Given the description of an element on the screen output the (x, y) to click on. 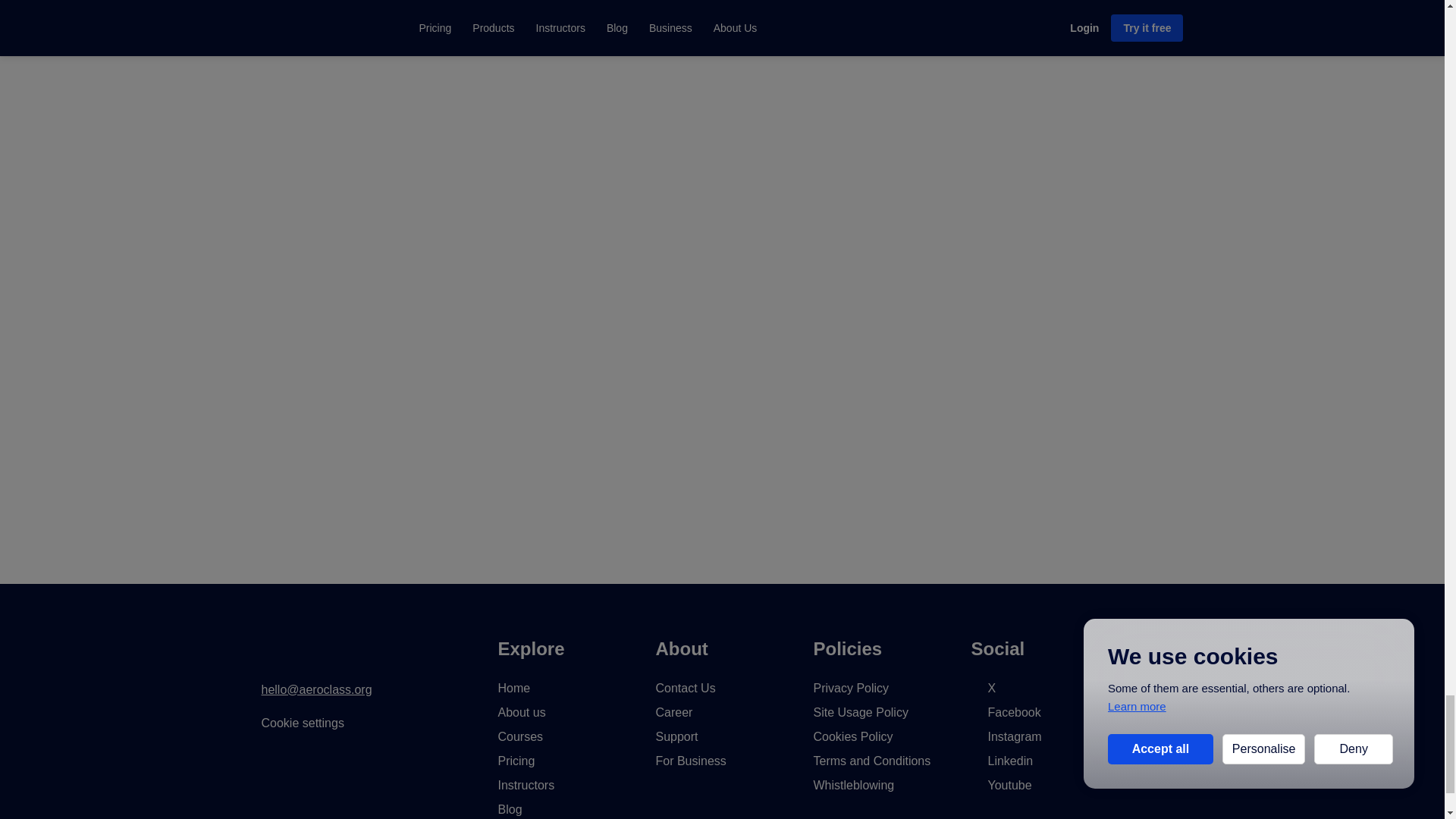
Courses (520, 736)
Home (513, 687)
Pricing (515, 760)
Blog (509, 809)
Instructors (525, 784)
About us (520, 712)
